Given the description of an element on the screen output the (x, y) to click on. 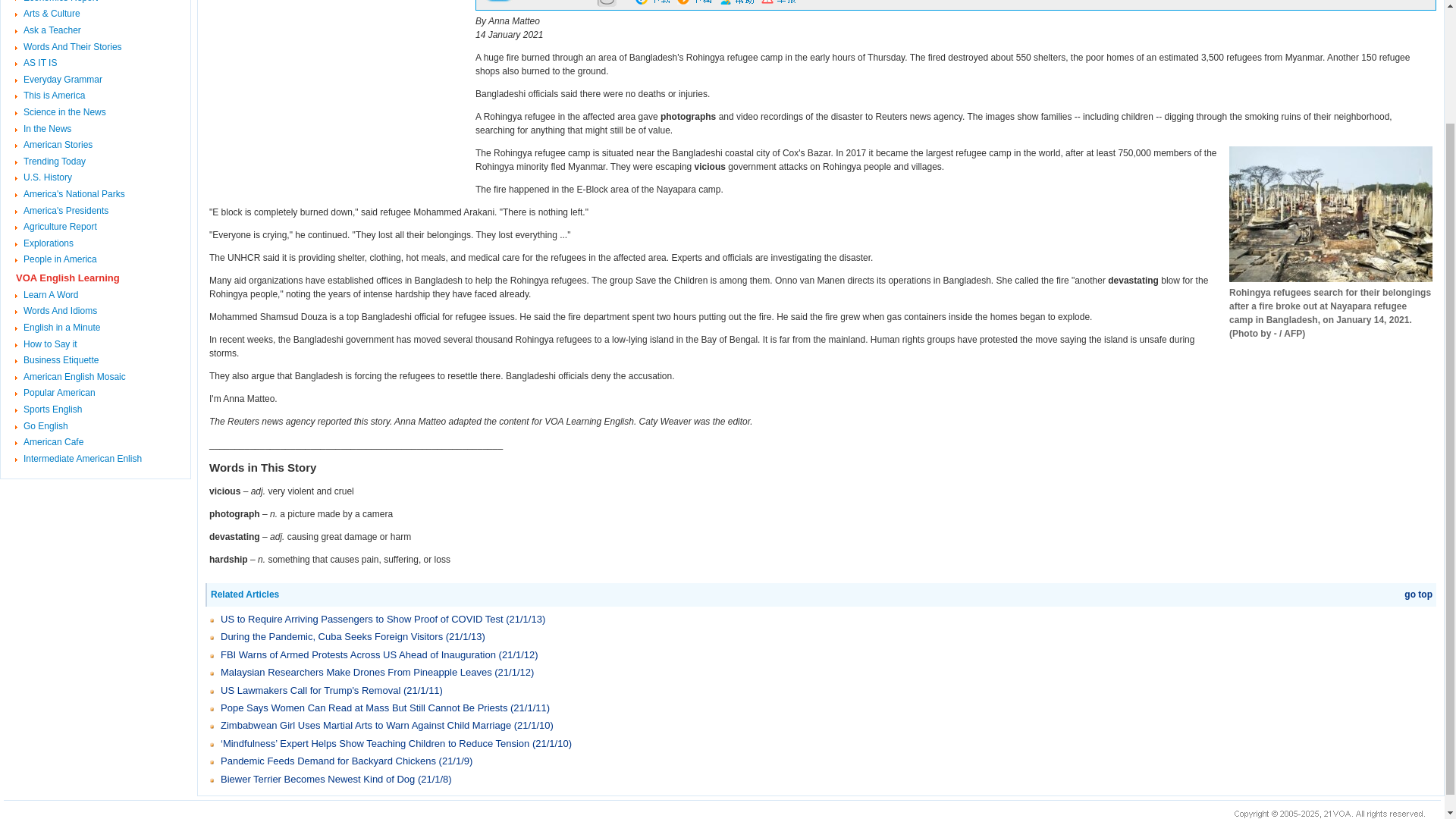
Business Etiquette (61, 359)
Everyday Grammar (62, 79)
U.S. History (47, 176)
American English Mosaic (74, 376)
Learn A Word (50, 294)
Science in the News (64, 112)
Words And Their Stories (72, 46)
Explorations (48, 243)
How to Say it (50, 344)
Sports English (52, 409)
